Given the description of an element on the screen output the (x, y) to click on. 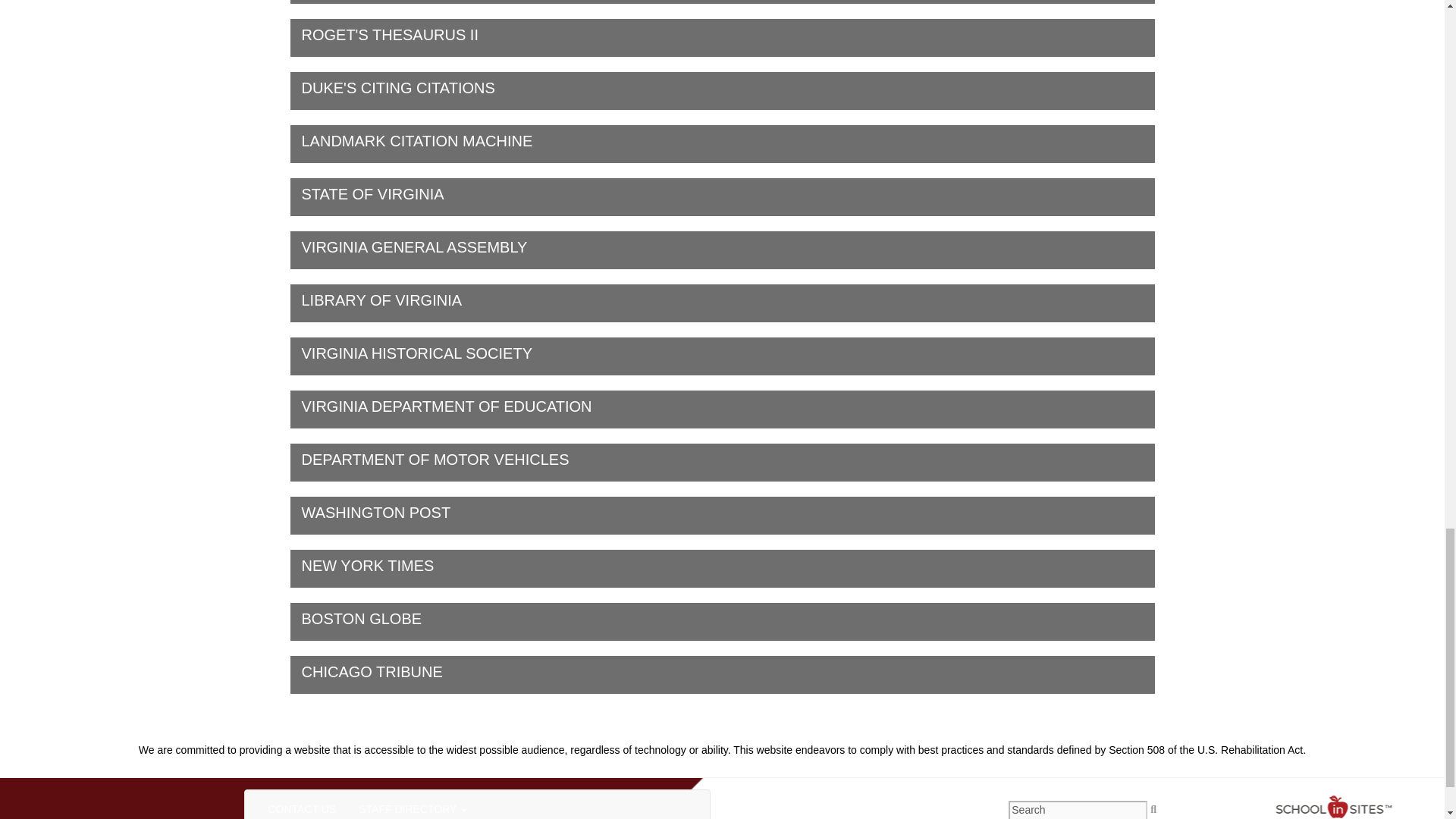
Virginia Historical Society (721, 356)
Library of Virginia (721, 303)
Chicago Tribune (721, 674)
Washington Post (721, 515)
Virginia Department of Education (721, 409)
Landmark Citation Machine (721, 143)
State of Virginia (366, 804)
Department of Motor Vehicles (721, 197)
Boston Globe (721, 462)
Duke's Citing Citations (721, 621)
Roget's Thesaurus II (721, 90)
Virginia General Assembly (721, 37)
New York Times (721, 249)
